Given the description of an element on the screen output the (x, y) to click on. 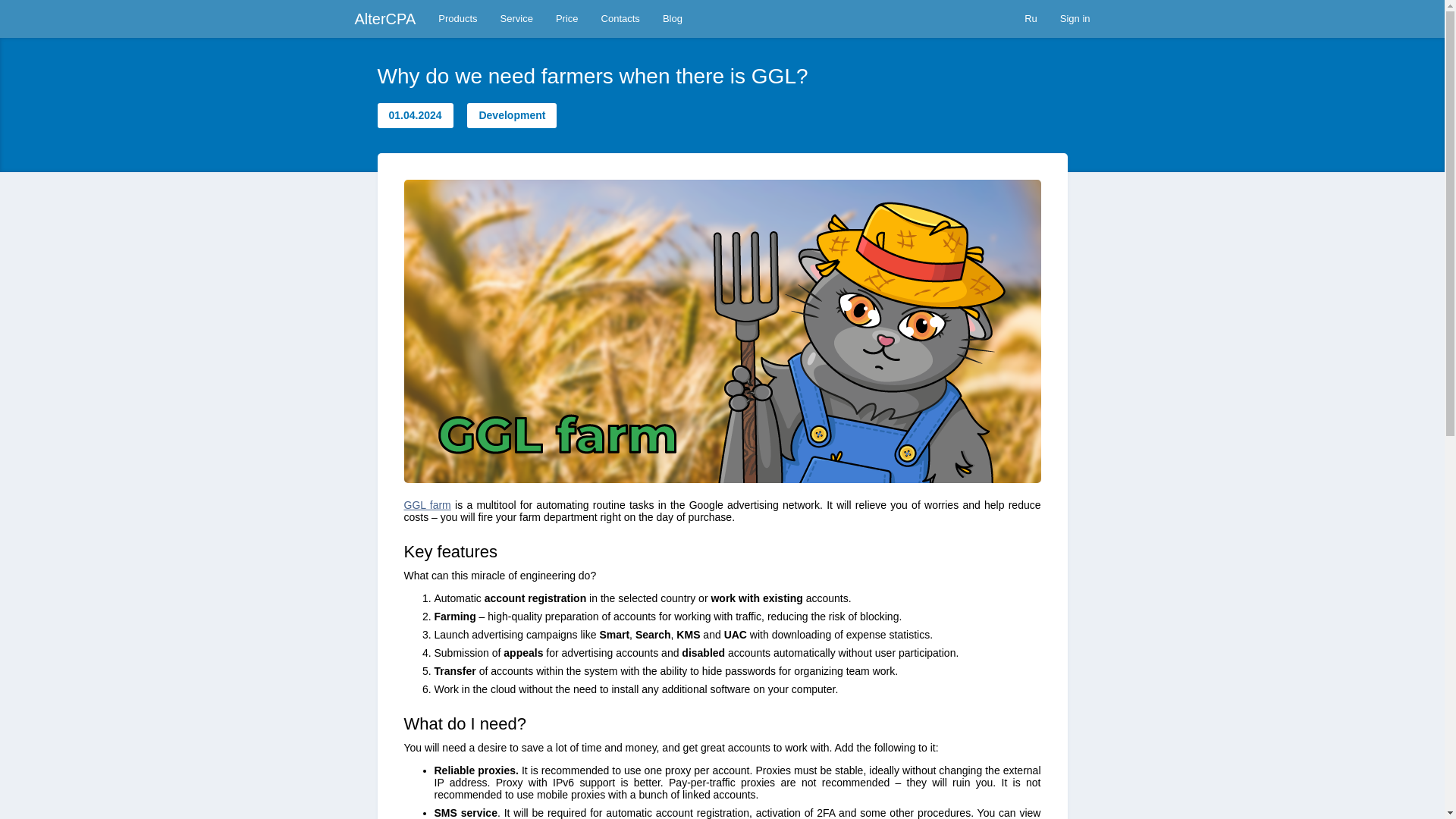
AlterCPA (385, 18)
Sign in (1075, 18)
Price (566, 18)
Ru (1030, 18)
Service (516, 18)
Development (511, 115)
01.04.2024 (414, 115)
Products (456, 18)
GGL farm (426, 504)
Contacts (619, 18)
Blog (672, 18)
